Given the description of an element on the screen output the (x, y) to click on. 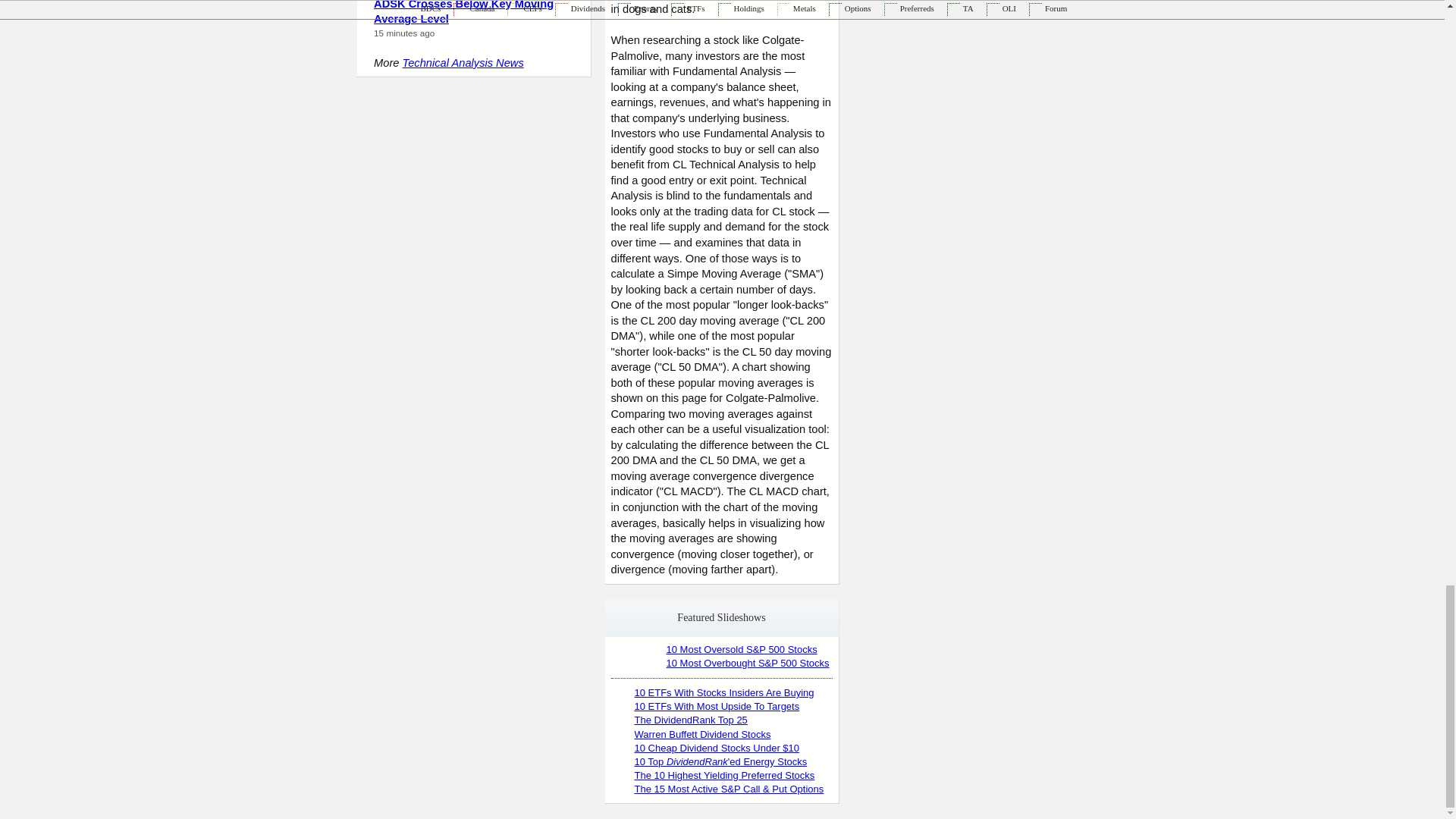
Technical Analysis News (463, 62)
ADSK Crosses Below Key Moving Average Level (463, 12)
